Given the description of an element on the screen output the (x, y) to click on. 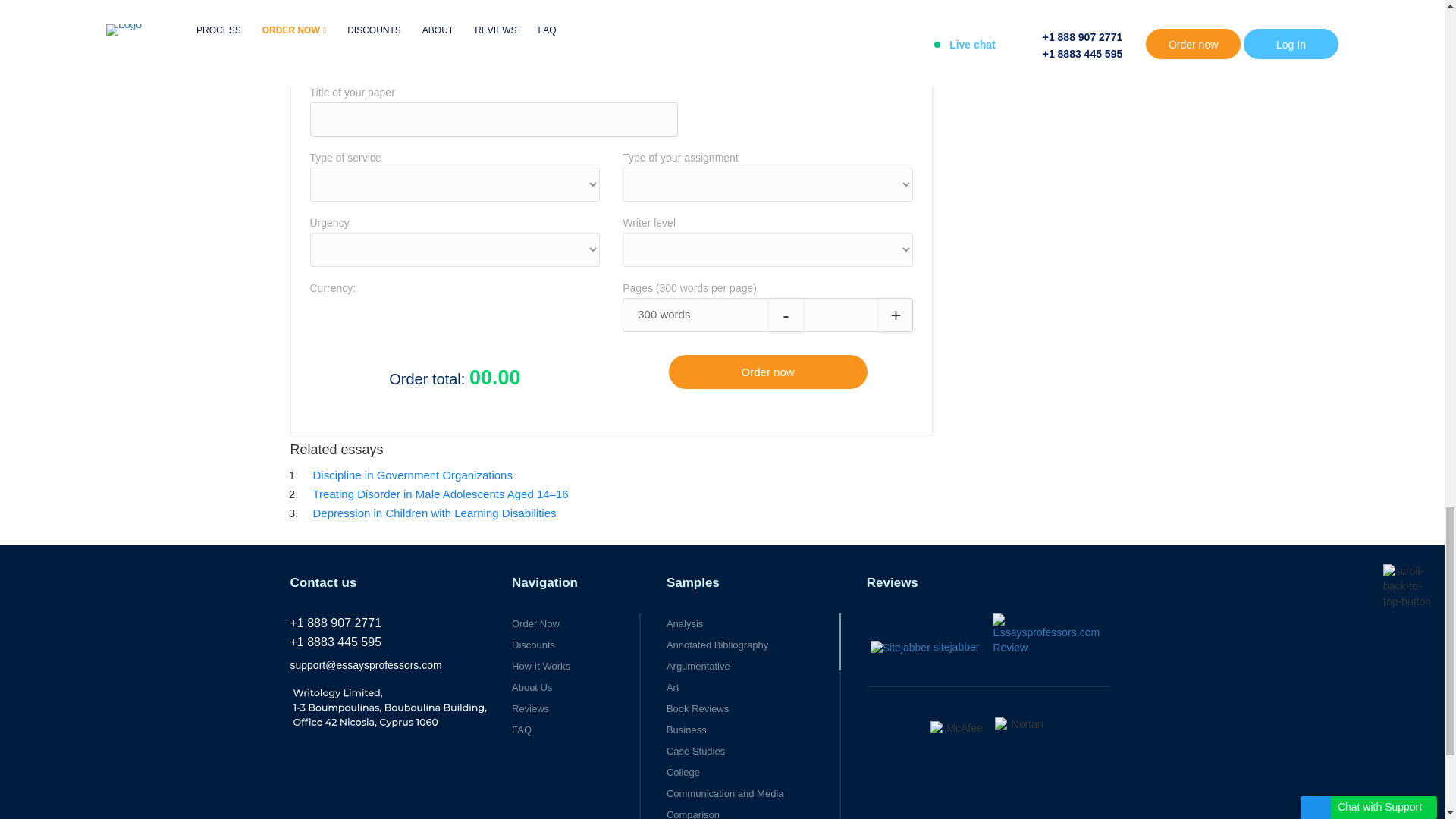
Order now (767, 371)
